Given the description of an element on the screen output the (x, y) to click on. 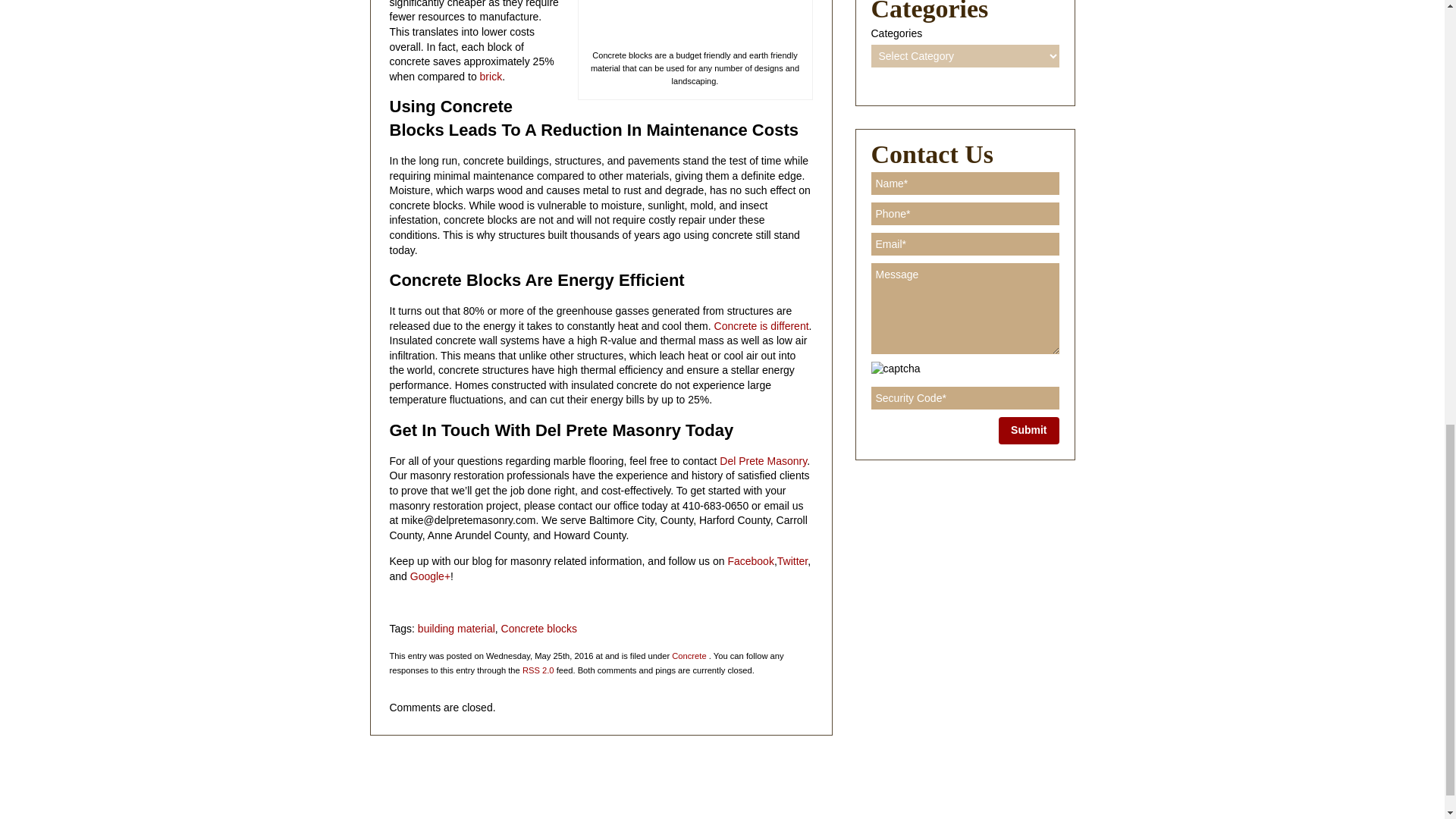
Submit (1028, 430)
brick (491, 76)
building material (456, 628)
Concrete (688, 655)
Concrete is different (761, 325)
Submit (1028, 430)
Del Prete Masonry (761, 460)
Twitter (792, 561)
RSS 2.0 (538, 669)
Concrete blocks (538, 628)
Facebook (749, 561)
Home (393, 774)
